Given the description of an element on the screen output the (x, y) to click on. 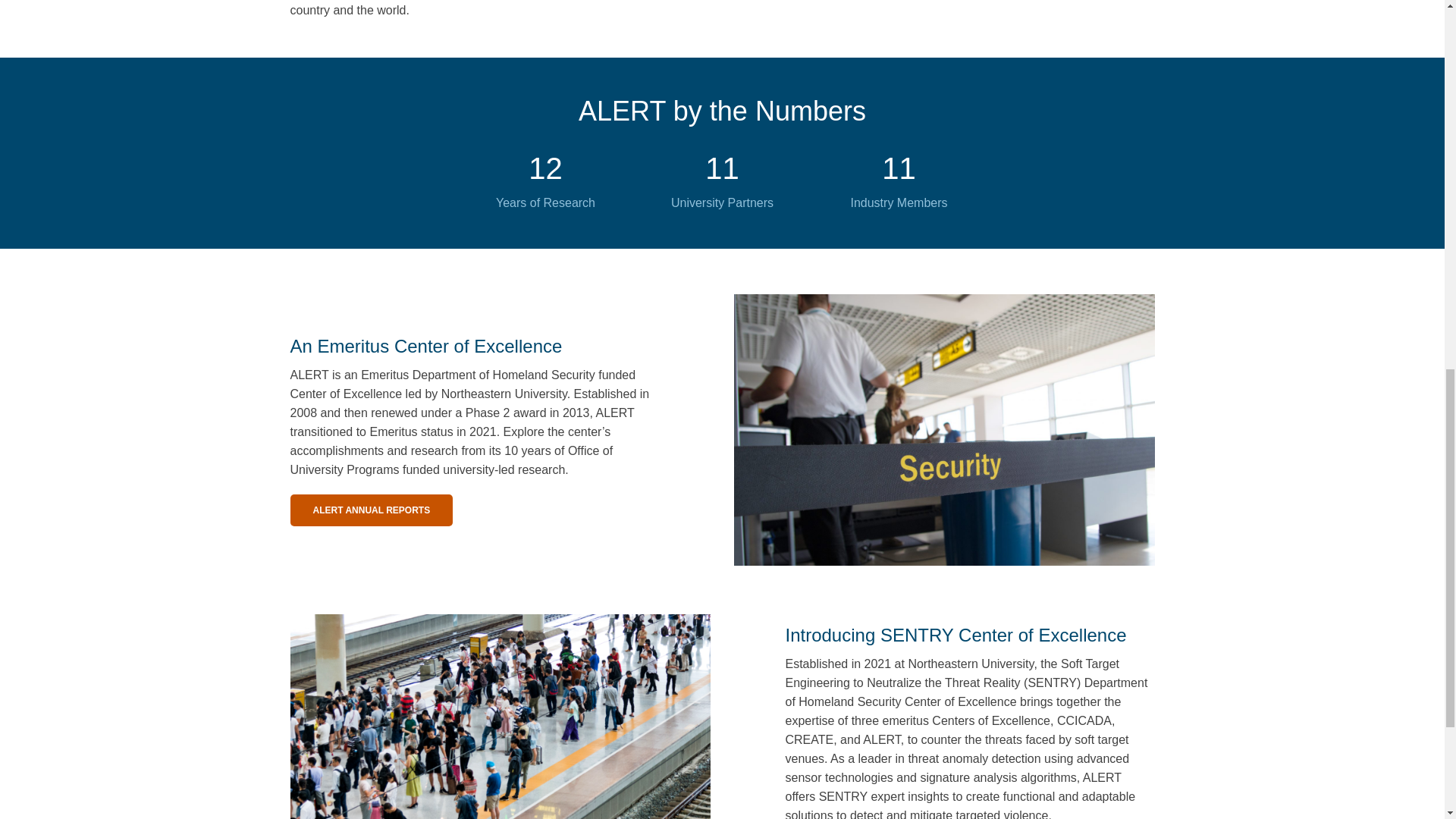
ALERT ANNUAL REPORTS (370, 510)
